Given the description of an element on the screen output the (x, y) to click on. 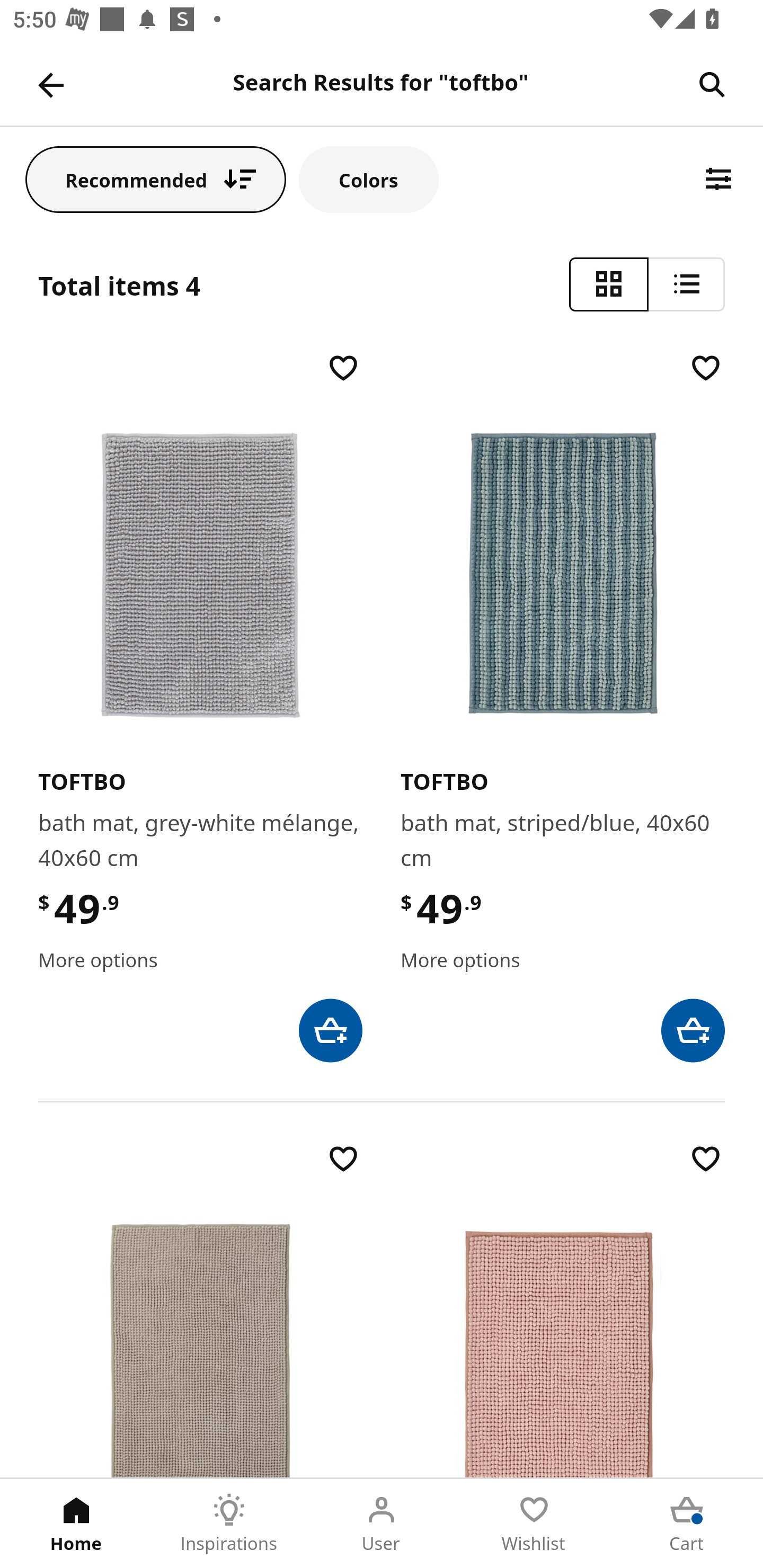
Recommended (155, 179)
Colors (368, 179)
Home
Tab 1 of 5 (76, 1522)
Inspirations
Tab 2 of 5 (228, 1522)
User
Tab 3 of 5 (381, 1522)
Wishlist
Tab 4 of 5 (533, 1522)
Cart
Tab 5 of 5 (686, 1522)
